Given the description of an element on the screen output the (x, y) to click on. 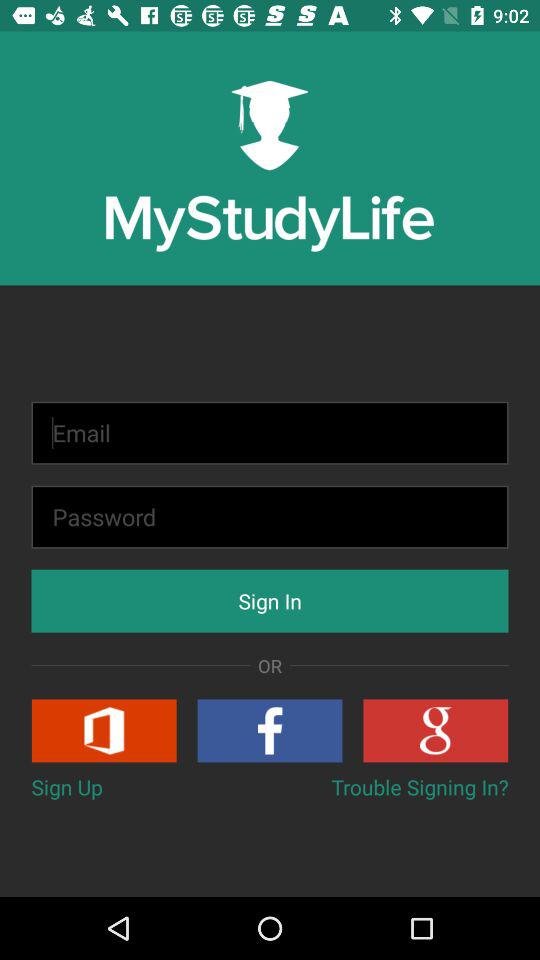
click item below or (269, 730)
